Given the description of an element on the screen output the (x, y) to click on. 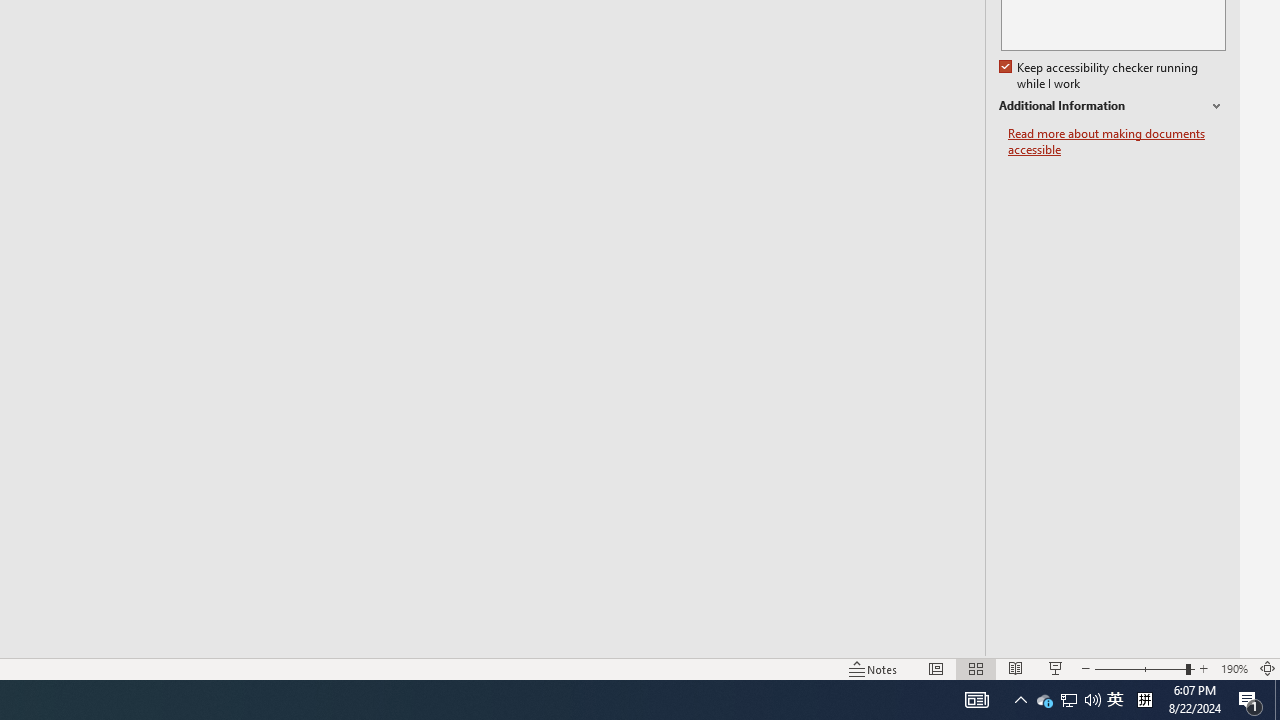
Zoom 190% (1234, 668)
